Given the description of an element on the screen output the (x, y) to click on. 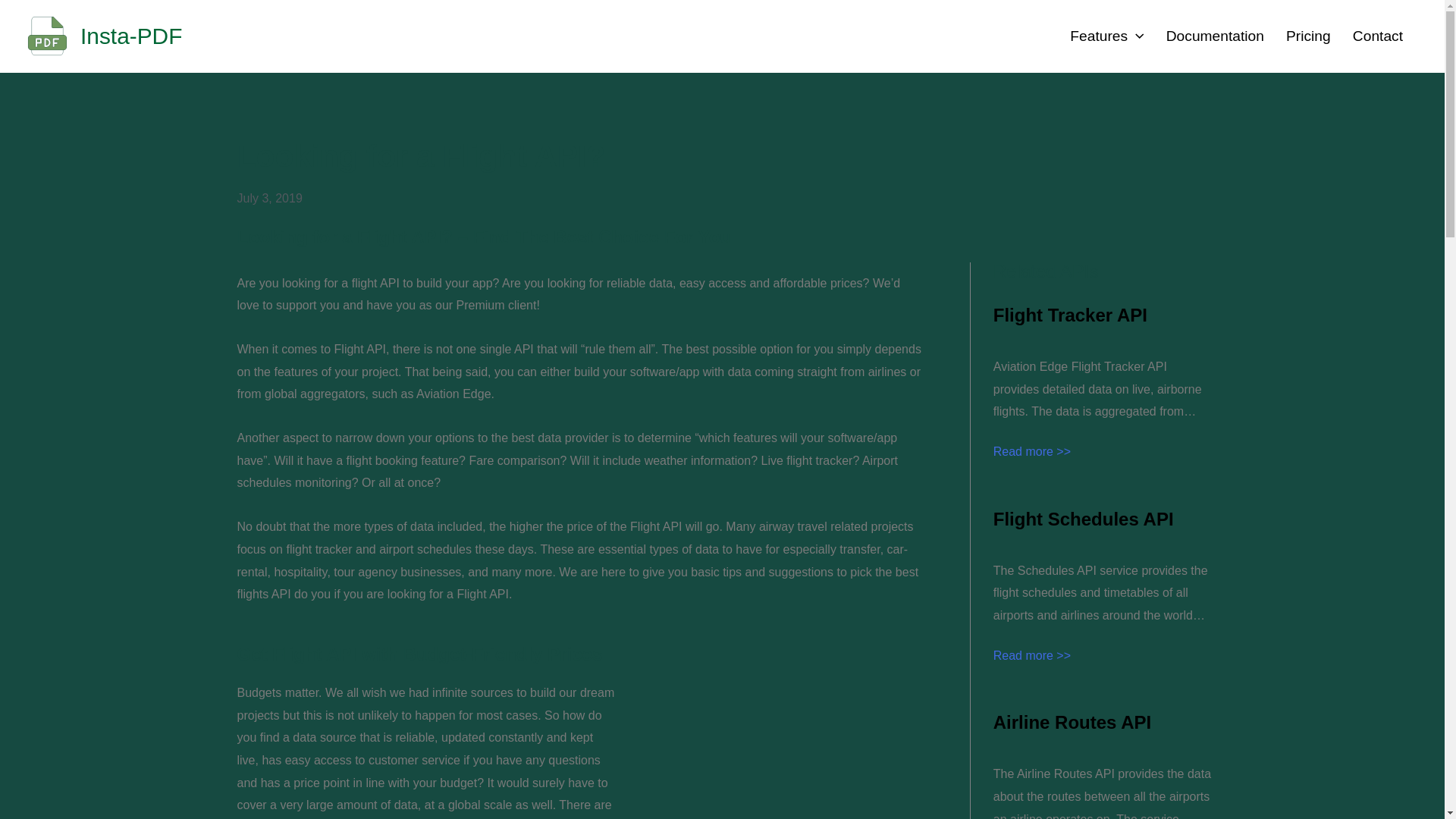
Documentation (1211, 36)
Pricing (1304, 36)
Features (1103, 36)
July 3, 2019 (268, 198)
Contact (1374, 36)
Insta-PDF (131, 35)
